Given the description of an element on the screen output the (x, y) to click on. 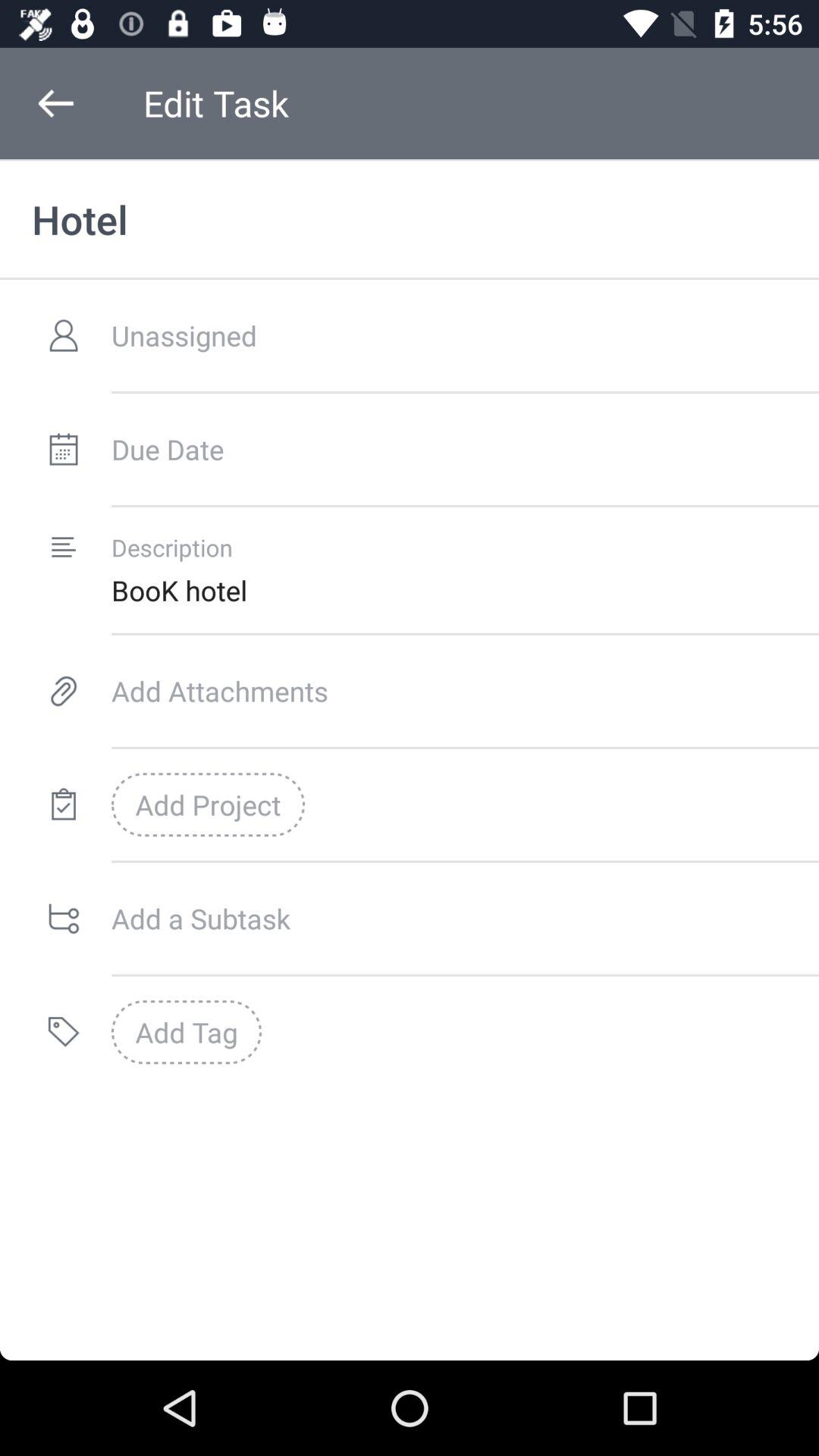
turn on icon above the hotel item (55, 103)
